Given the description of an element on the screen output the (x, y) to click on. 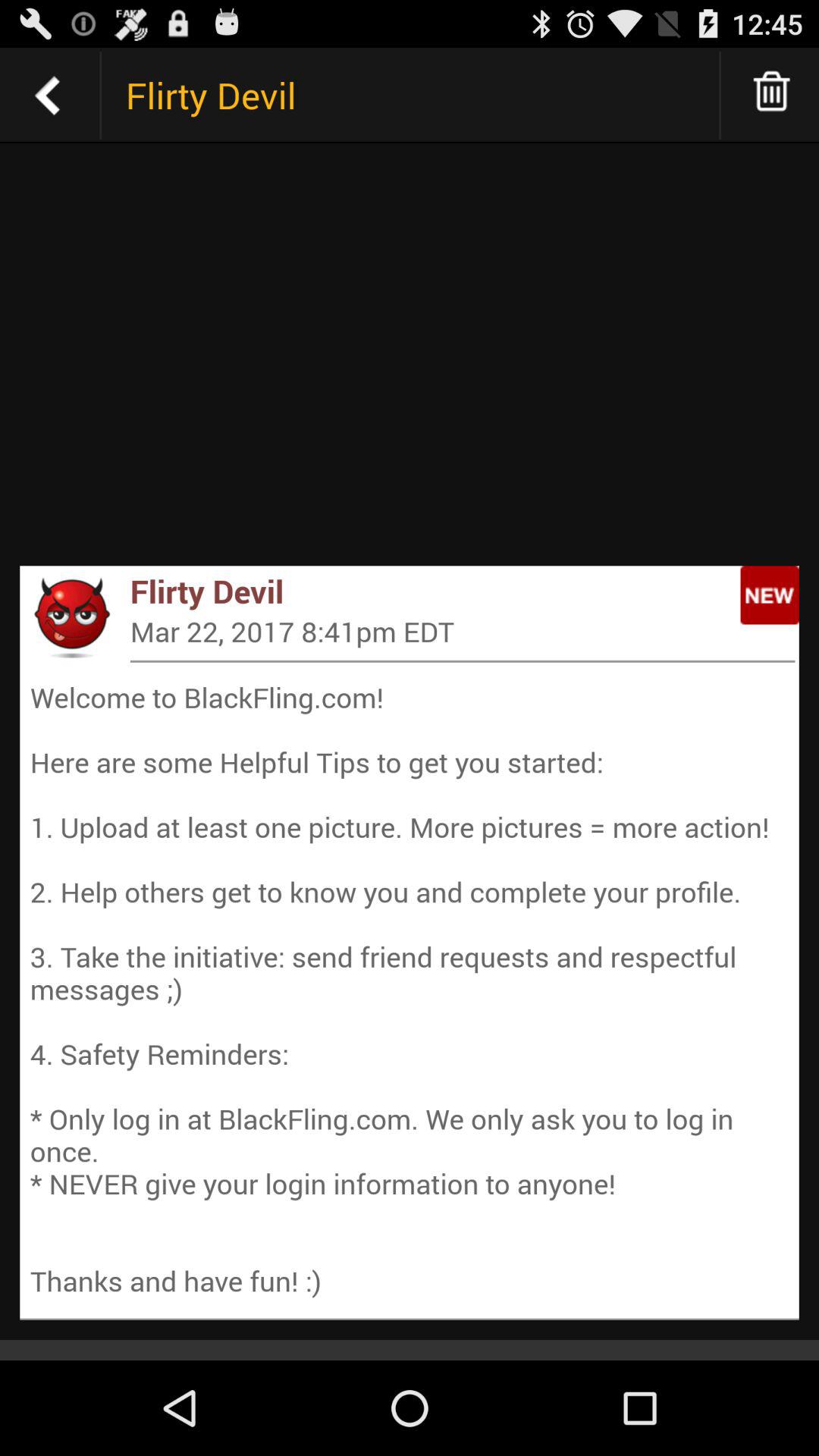
tap mar 22 2017 app (462, 631)
